Given the description of an element on the screen output the (x, y) to click on. 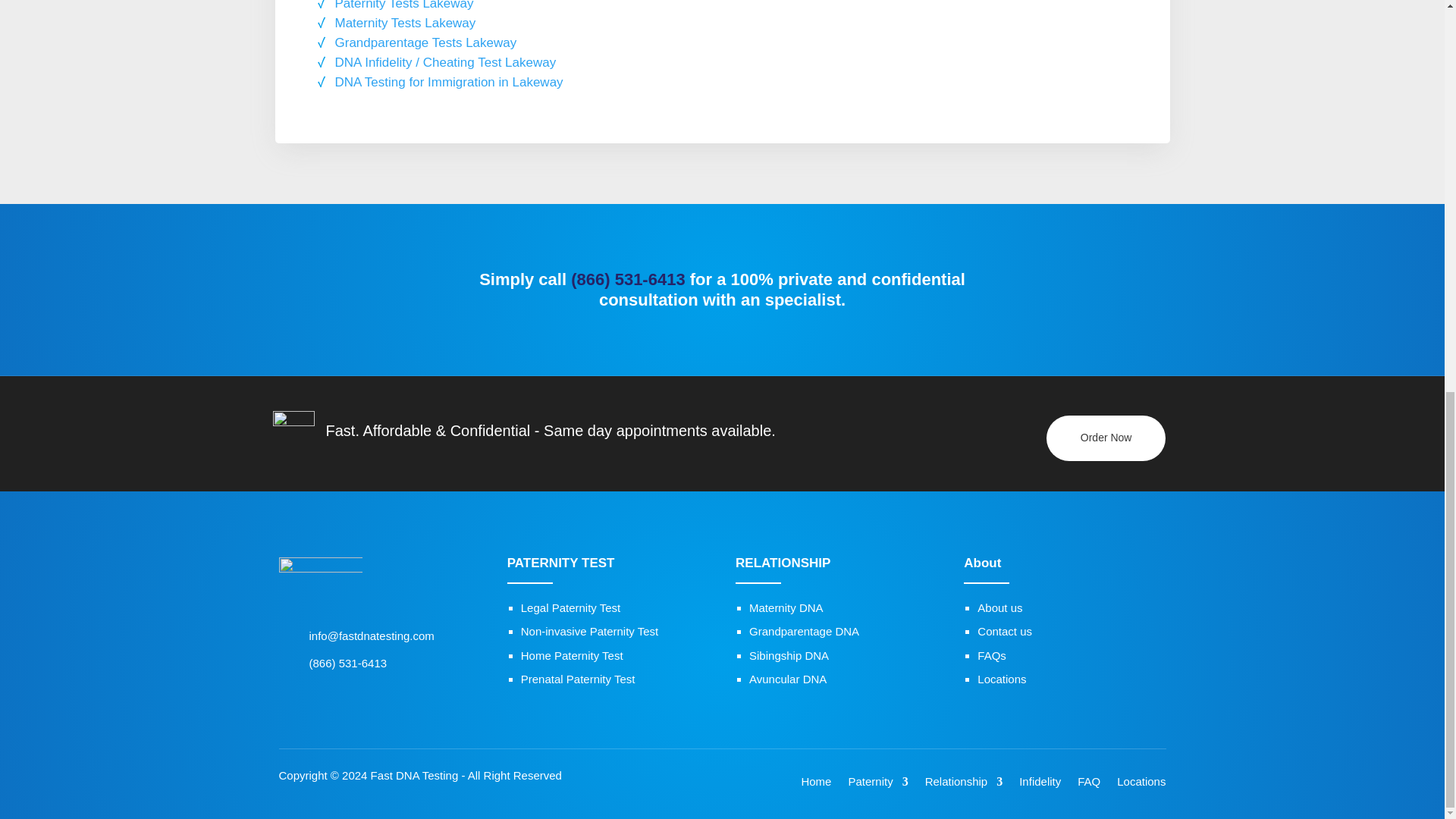
Grandparentage Tests Lakeway (425, 42)
Paternity Tests Lakeway (404, 5)
footer-logo2 (320, 582)
DNA Testing for Immigration in Lakeway (448, 82)
Maternity Tests Lakeway (405, 22)
Order Now (1106, 438)
